Given the description of an element on the screen output the (x, y) to click on. 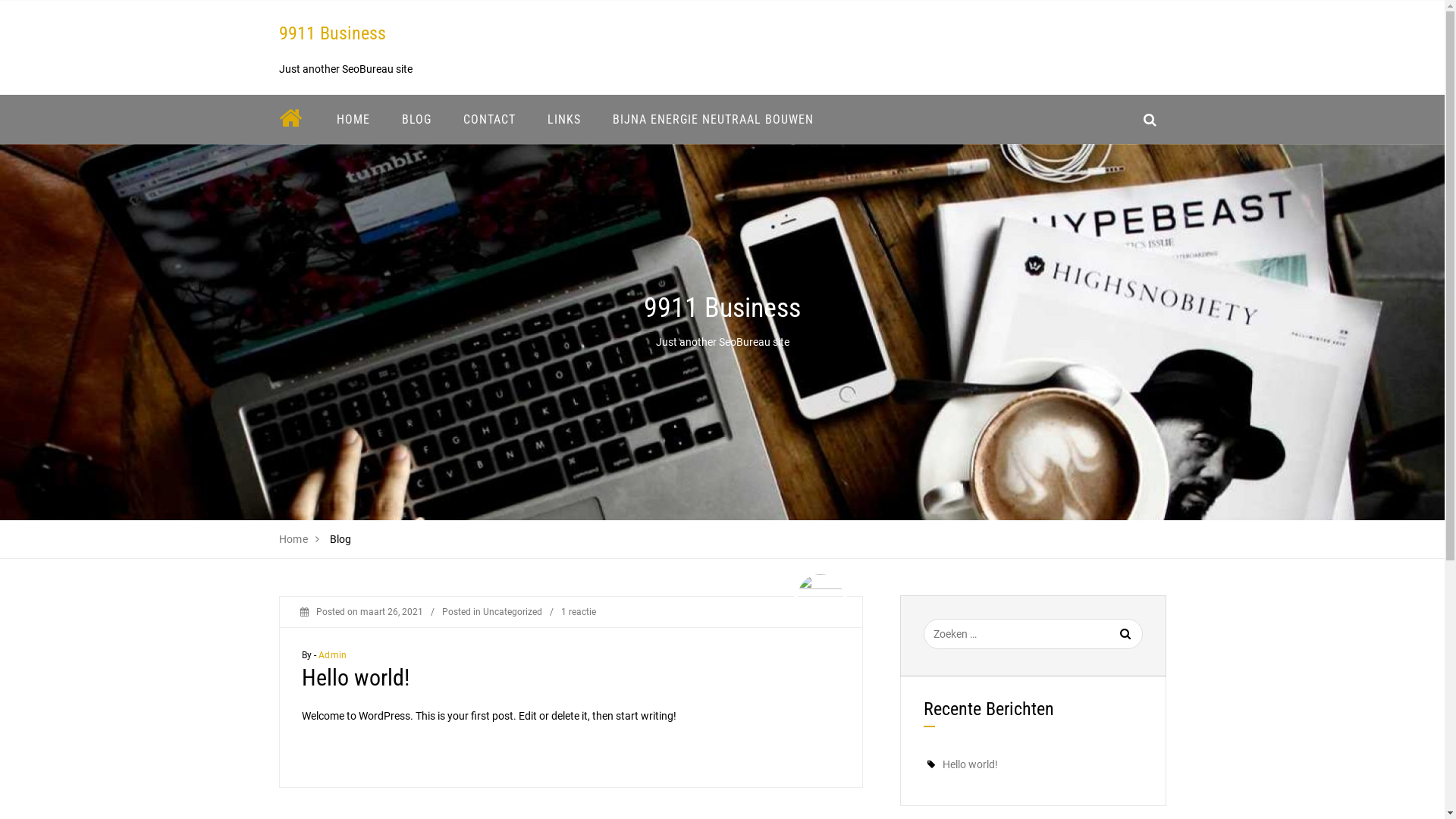
Home Element type: text (293, 539)
Hello world! Element type: text (355, 677)
Admin Element type: text (332, 654)
1 reactie
op Hello world! Element type: text (578, 611)
Zoeken Element type: text (1107, 642)
BIJNA ENERGIE NEUTRAAL BOUWEN Element type: text (712, 119)
BLOG Element type: text (415, 119)
HOME Element type: text (352, 119)
Uncategorized Element type: text (511, 611)
search_icon Element type: hover (1148, 119)
9911 Business Element type: text (332, 32)
CONTACT Element type: text (489, 119)
LINKS Element type: text (562, 119)
Hello world! Element type: text (969, 764)
